Given the description of an element on the screen output the (x, y) to click on. 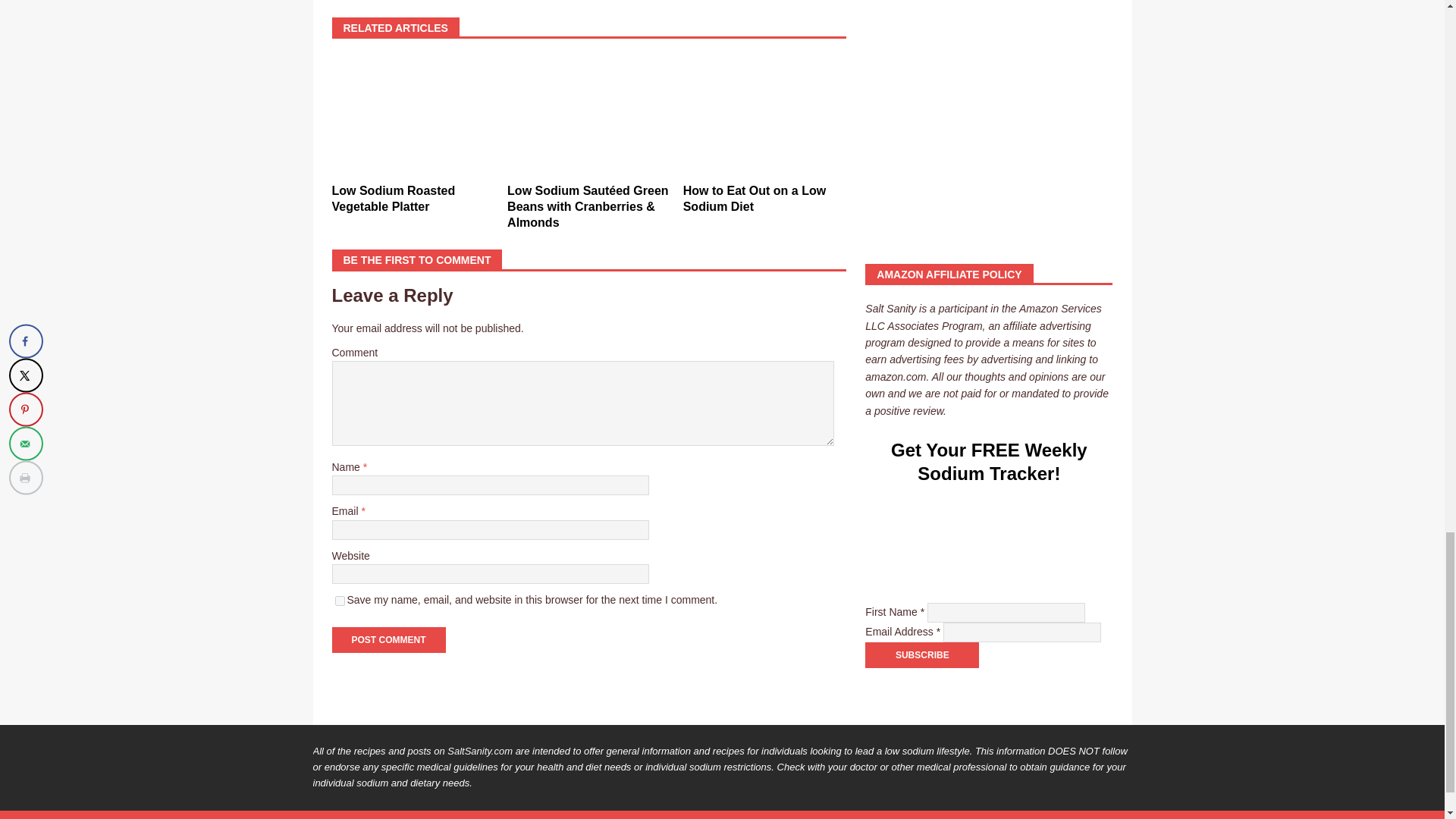
Subscribe (921, 655)
Low Sodium Roasted Vegetable Platter (393, 198)
Post Comment (388, 639)
yes (339, 601)
Low Sodium Roasted Vegetable Platter (393, 198)
Low Sodium Roasted Vegetable Platter (413, 115)
